Given the description of an element on the screen output the (x, y) to click on. 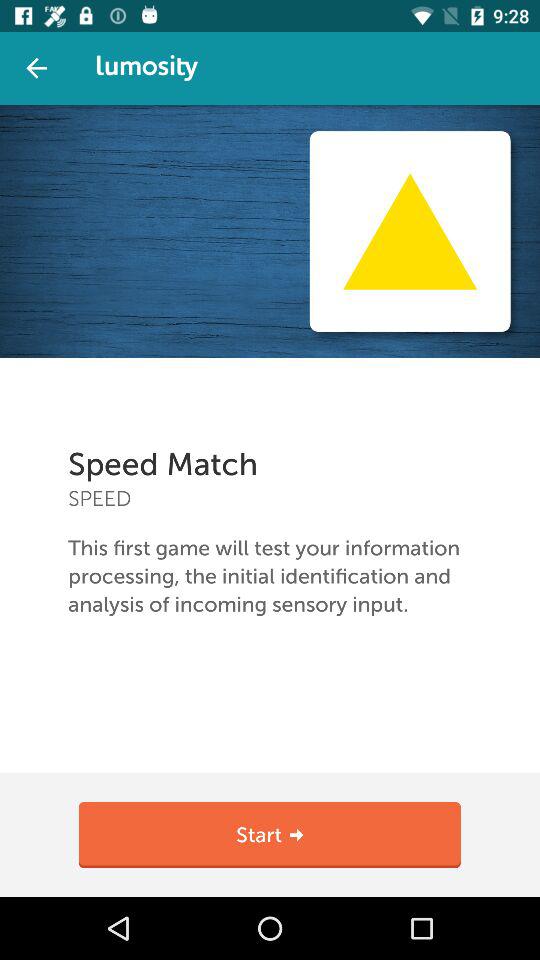
go back (36, 68)
